Given the description of an element on the screen output the (x, y) to click on. 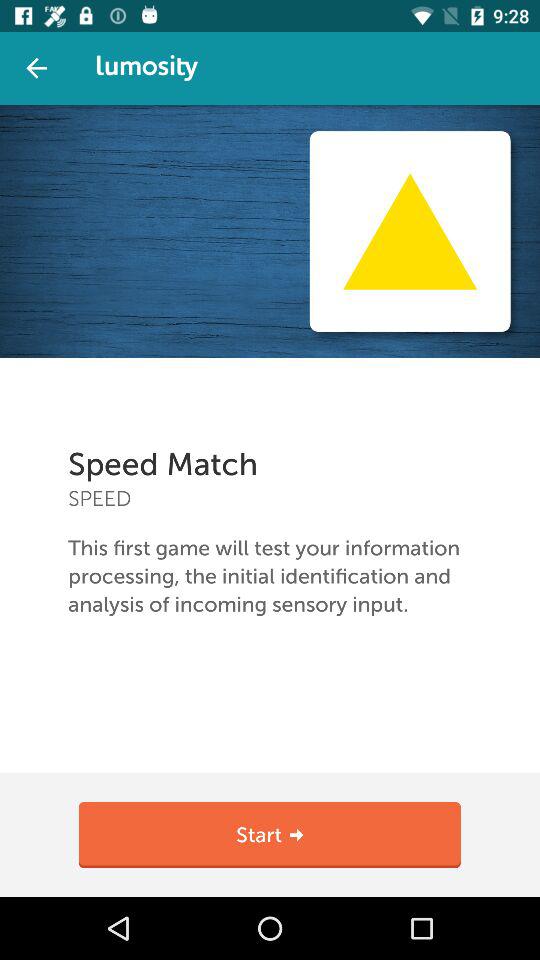
go back (36, 68)
